Given the description of an element on the screen output the (x, y) to click on. 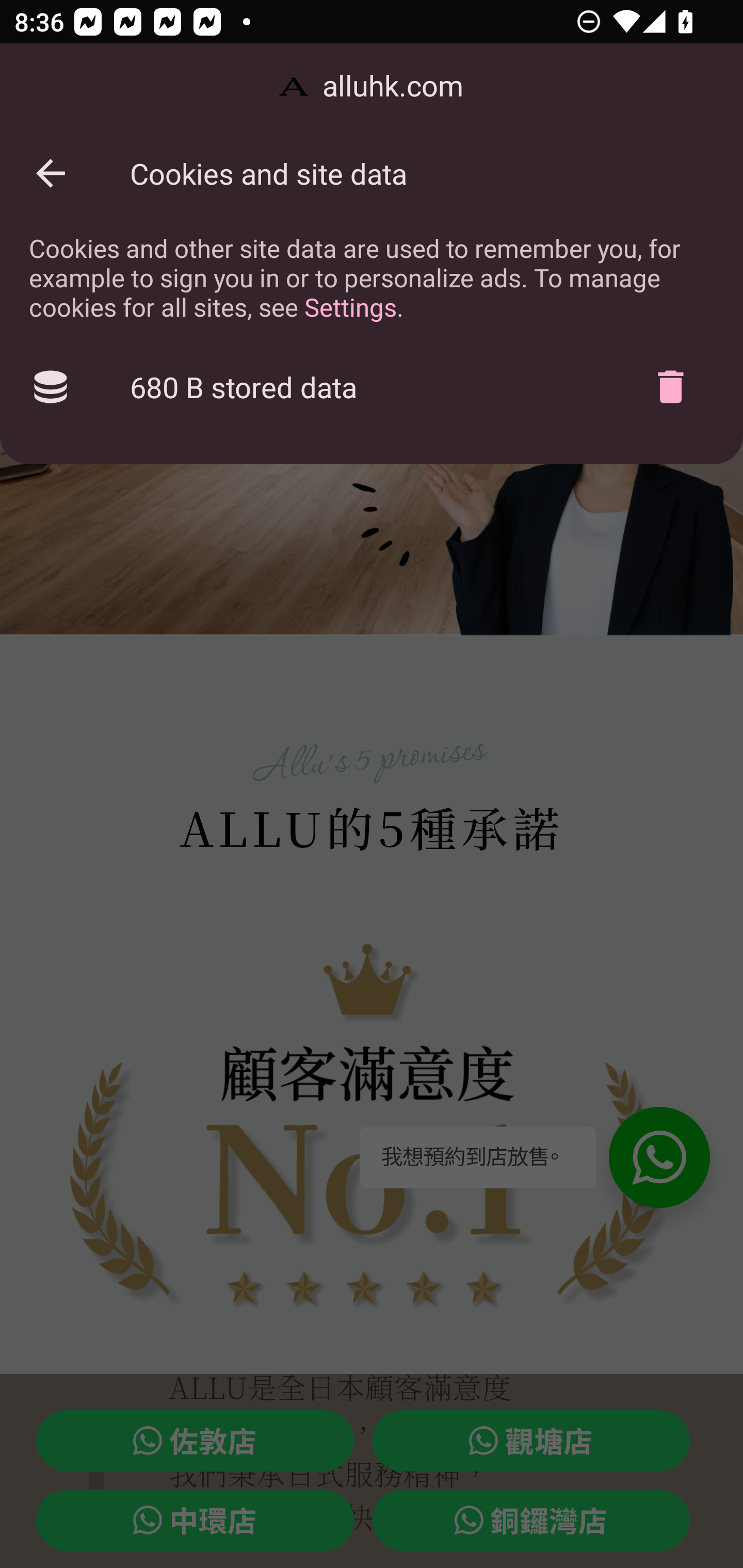
alluhk.com (371, 86)
Back (50, 173)
680 B stored data Delete cookies? (371, 386)
